Given the description of an element on the screen output the (x, y) to click on. 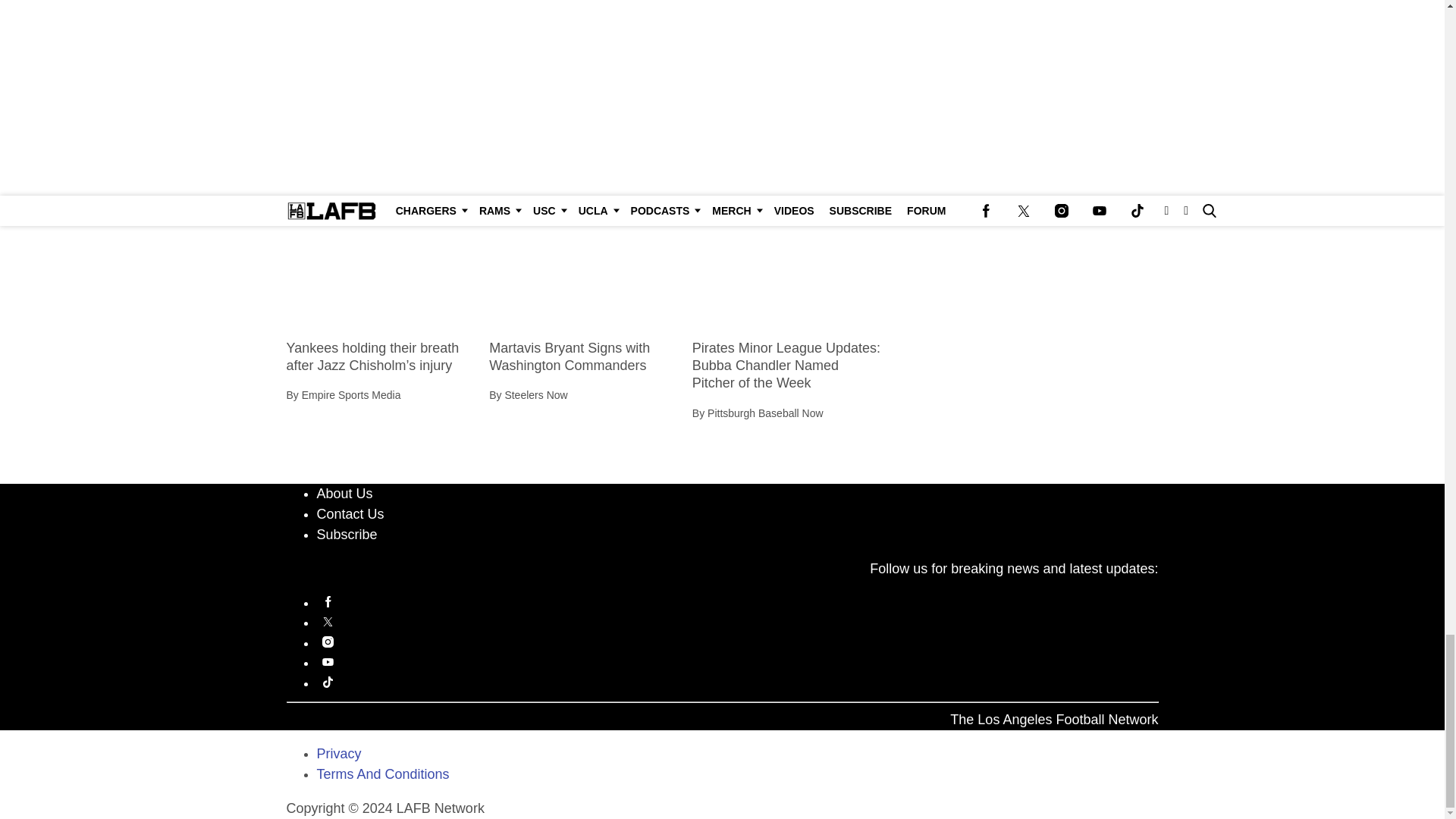
Connect with us on TikTok (737, 681)
Follow us on Twitter (737, 621)
Subscribe to our YouTube channel (737, 661)
Follow us on Facebook (737, 601)
Follow us on Instagram (737, 641)
